Given the description of an element on the screen output the (x, y) to click on. 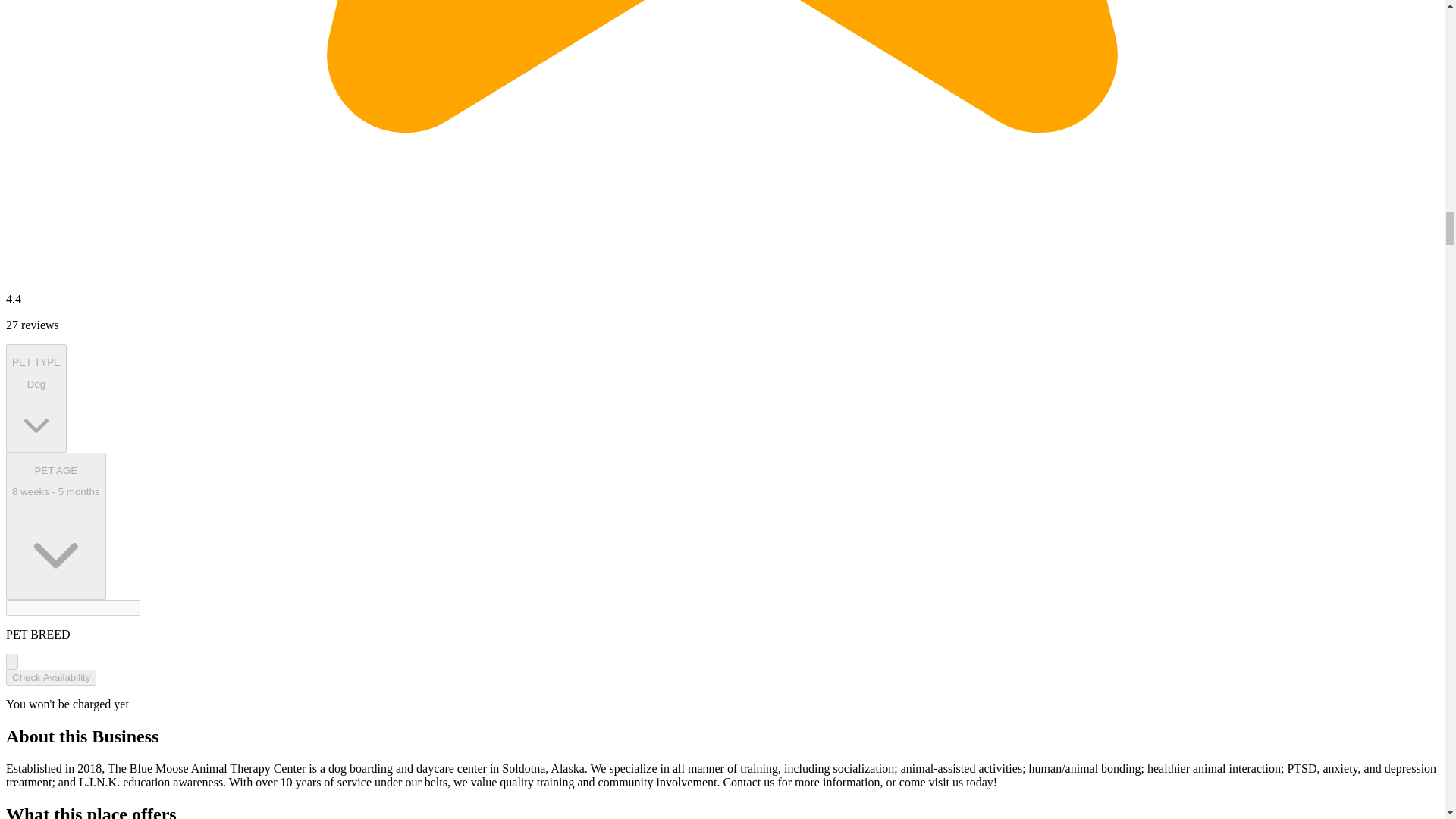
Select your pet age (55, 526)
select your pet breed (35, 397)
Check Availability (11, 661)
Select your pet type (50, 677)
